Given the description of an element on the screen output the (x, y) to click on. 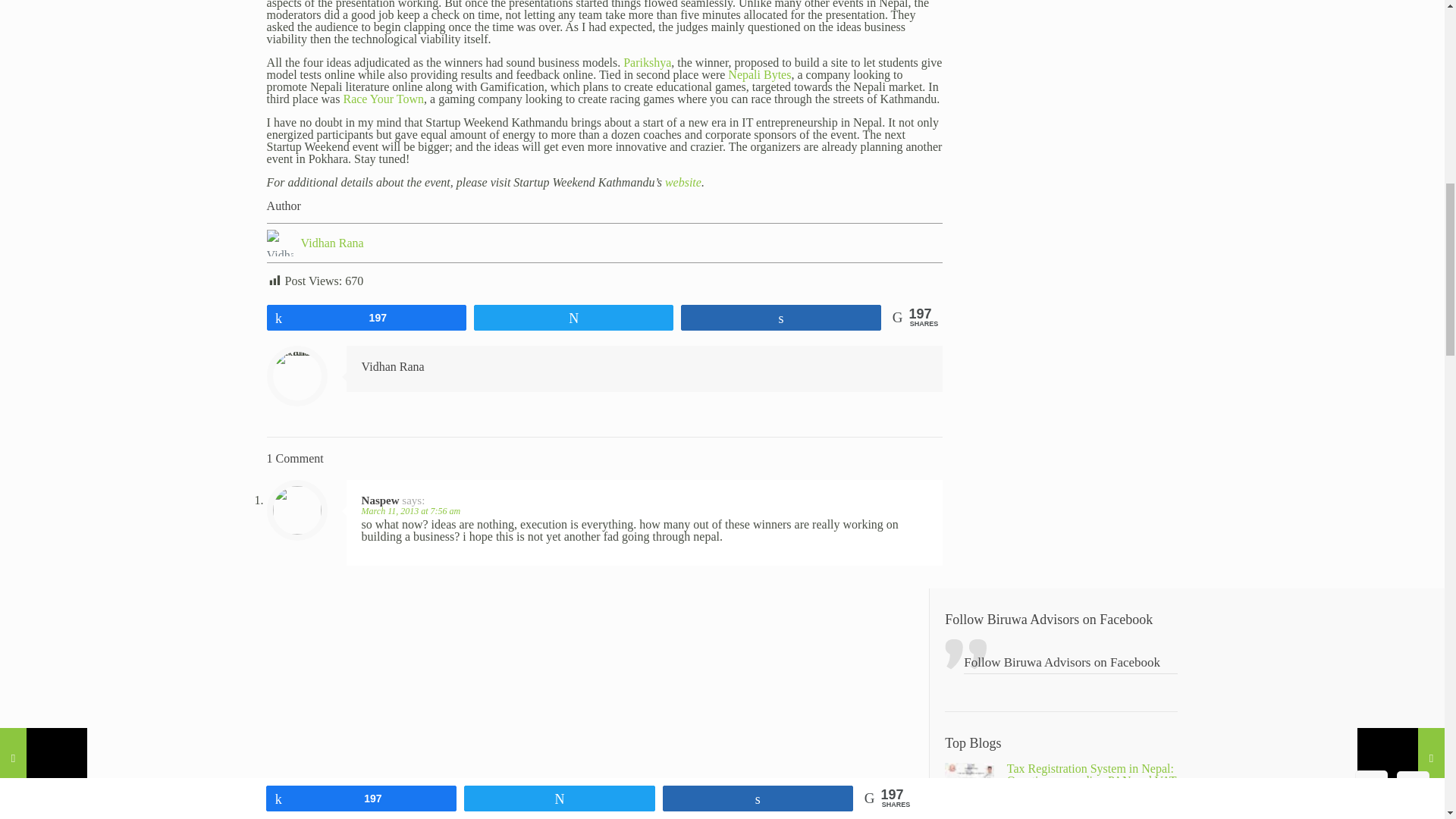
Race Your Town (382, 98)
website (683, 182)
Parikshya (647, 62)
Vidhan Rana (332, 242)
Nepali Bytes (759, 74)
